Given the description of an element on the screen output the (x, y) to click on. 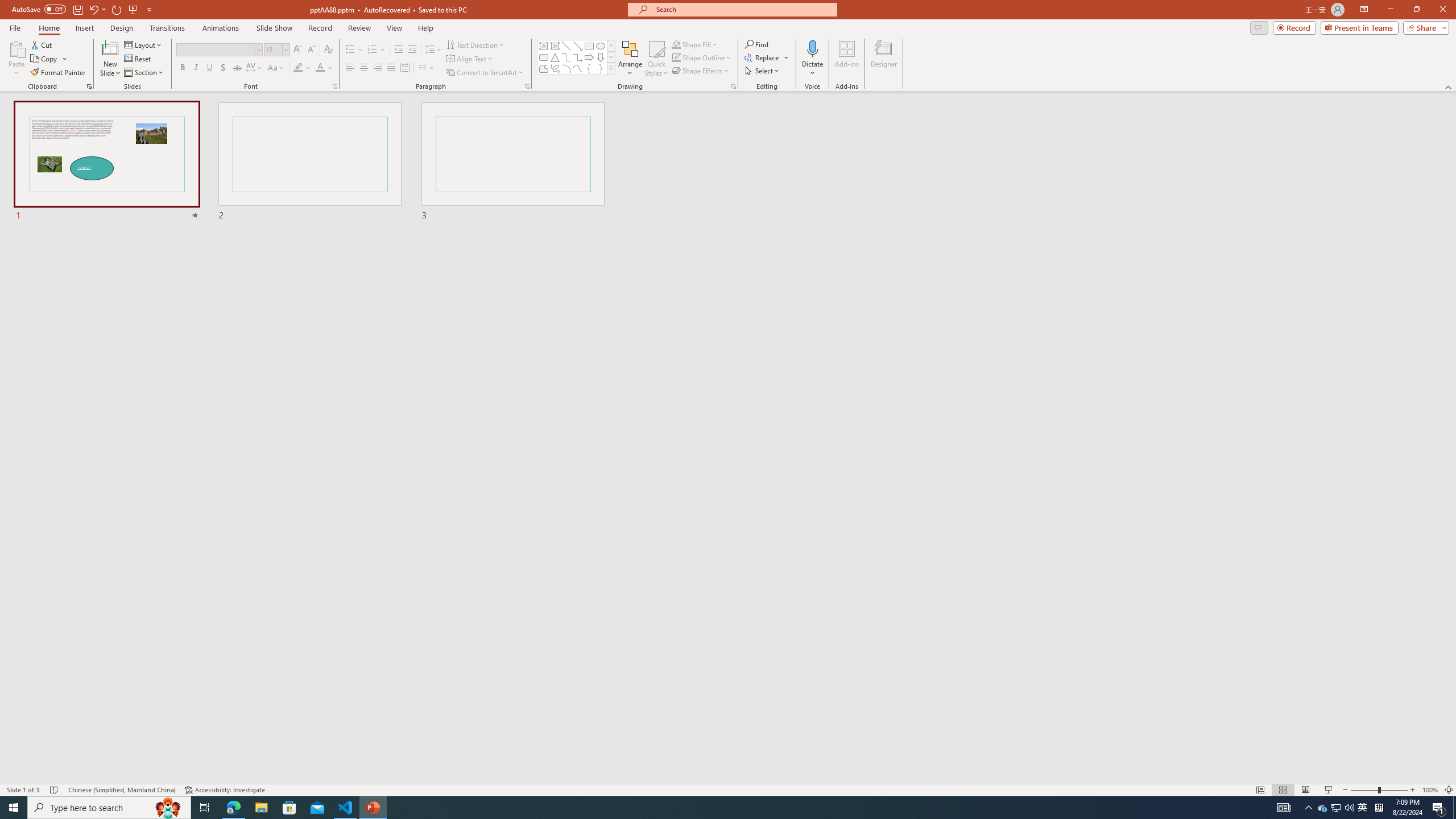
Font... (334, 85)
Text Box (543, 45)
Designer (883, 58)
Shadow (223, 67)
Office Clipboard... (88, 85)
Design (122, 28)
Increase Font Size (297, 49)
Normal (1260, 790)
Replace... (762, 56)
Numbering (372, 49)
Open (285, 49)
Columns (426, 67)
Slide Sorter (1282, 790)
Format Painter (58, 72)
Share (1423, 27)
